Given the description of an element on the screen output the (x, y) to click on. 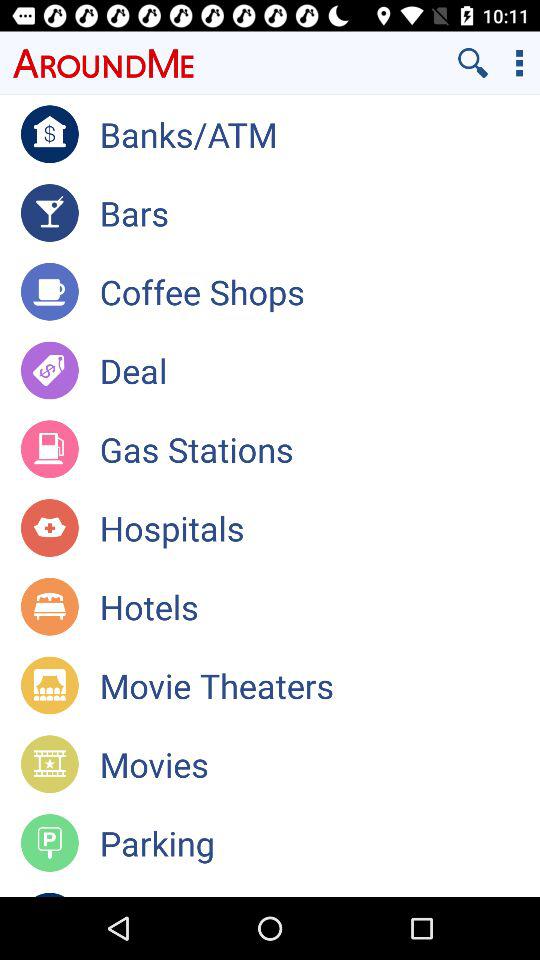
menu button (519, 62)
